Given the description of an element on the screen output the (x, y) to click on. 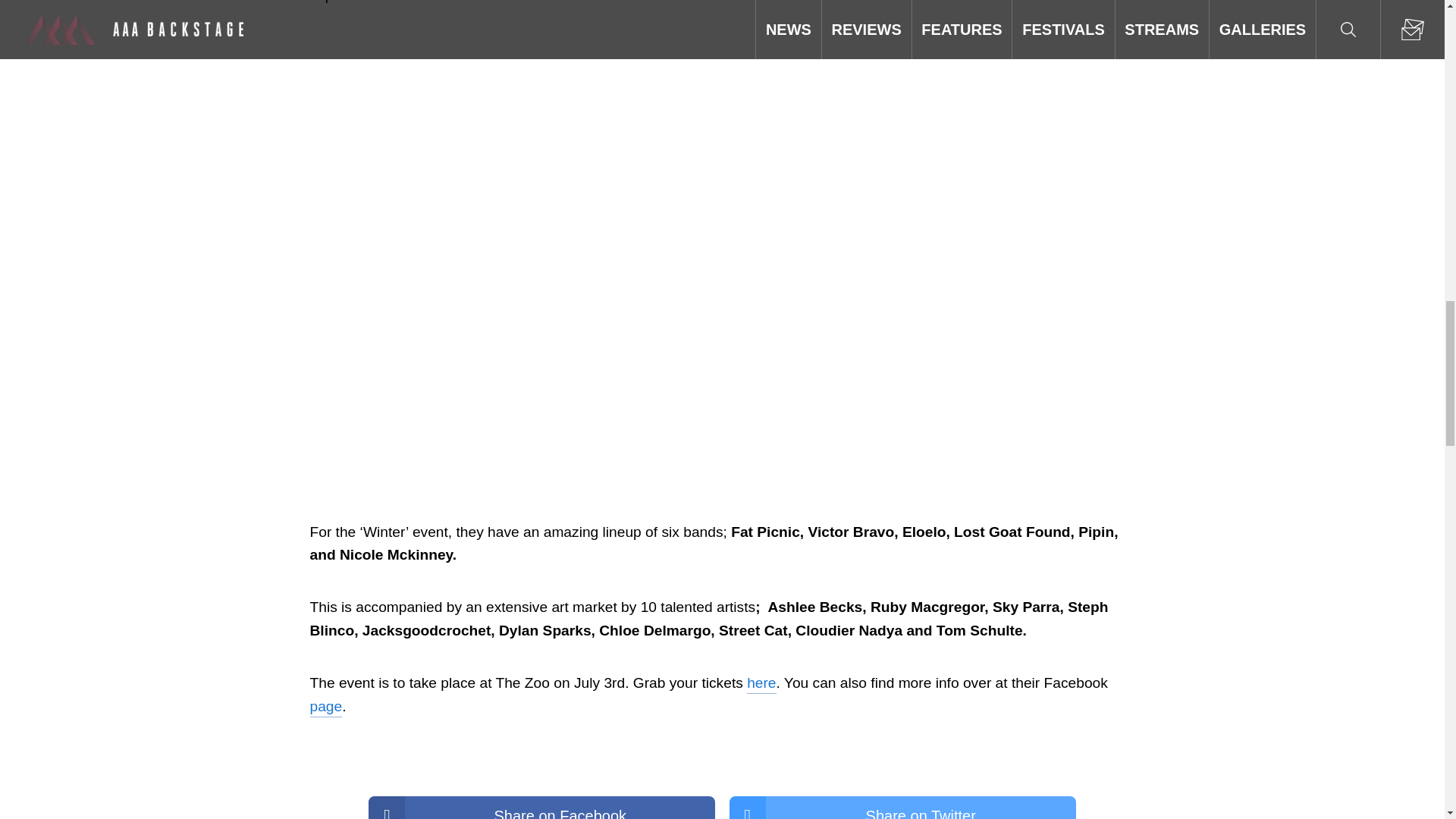
Share on Twitter (902, 807)
Share on Facebook (541, 807)
page (325, 707)
here (761, 683)
